Given the description of an element on the screen output the (x, y) to click on. 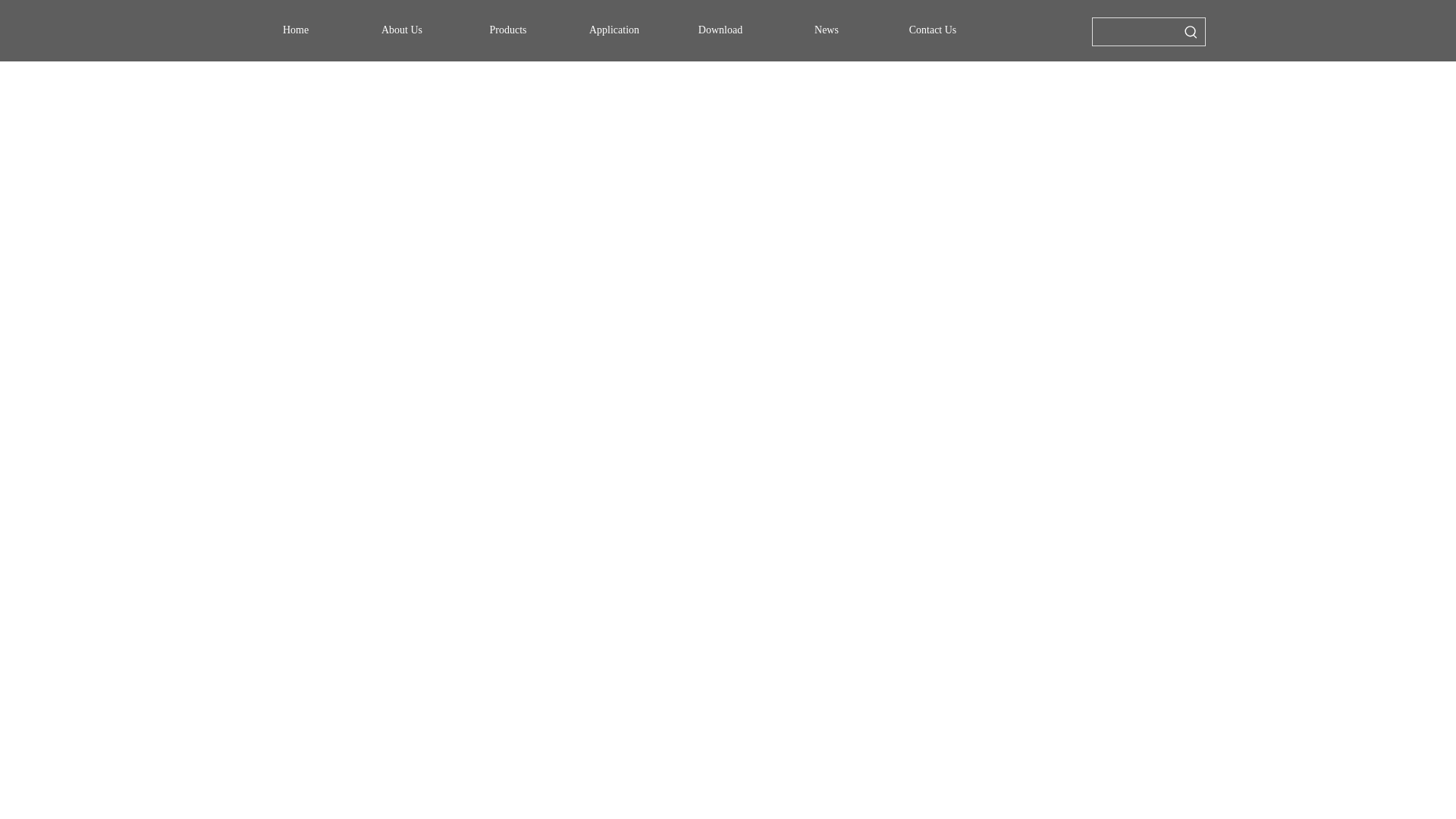
Products (507, 30)
Download (719, 30)
Contact Us (932, 30)
Home (296, 30)
Application (613, 30)
About Us (401, 30)
News (826, 30)
